Given the description of an element on the screen output the (x, y) to click on. 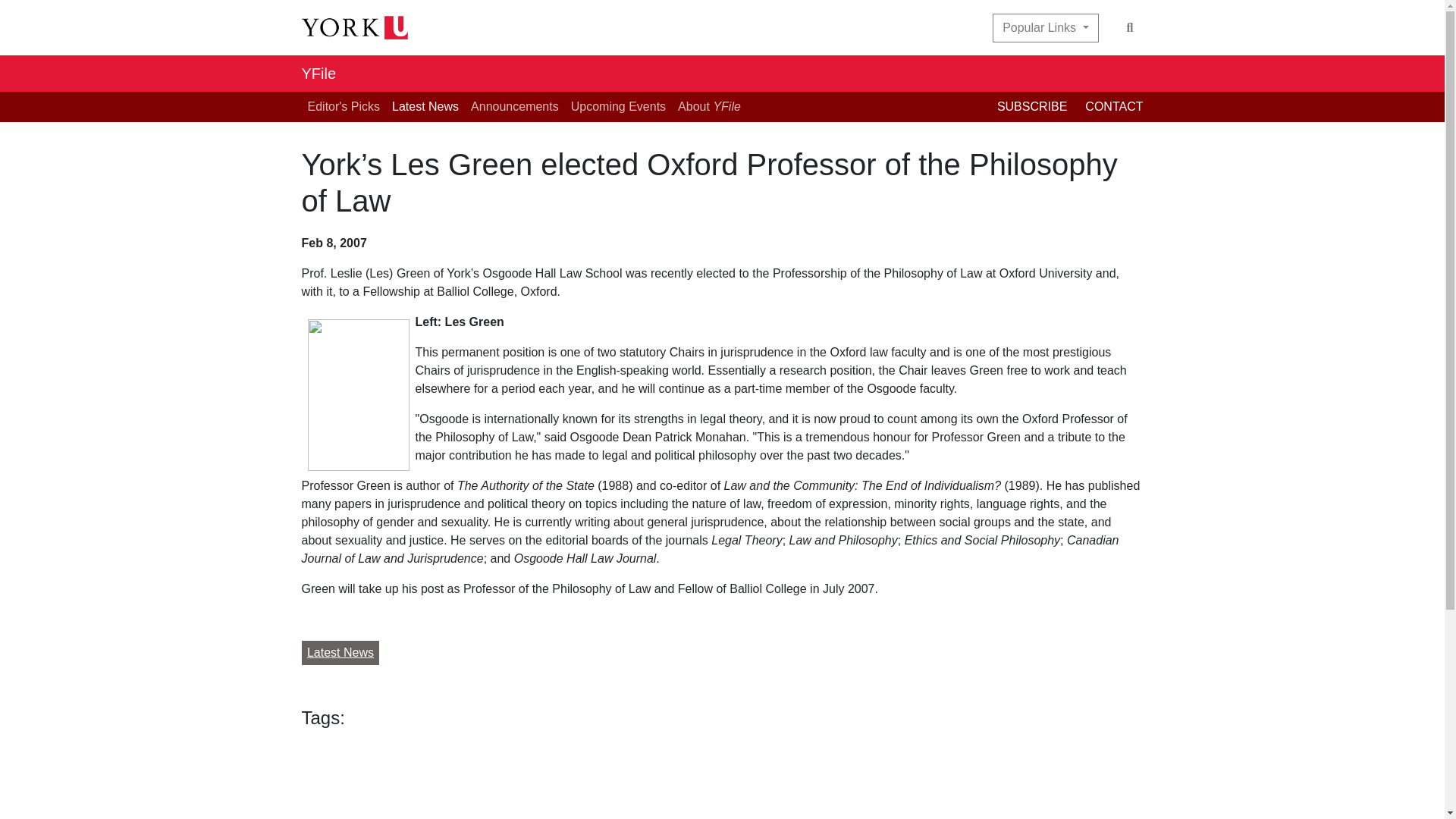
YFile (318, 73)
Facebook (316, 779)
Twitter (1067, 248)
Search (1129, 27)
Editor's Picks (344, 106)
SUBSCRIBE (1040, 106)
Share (408, 779)
Facebook (1037, 248)
Popular Links (1044, 27)
Facebook (1037, 248)
